Given the description of an element on the screen output the (x, y) to click on. 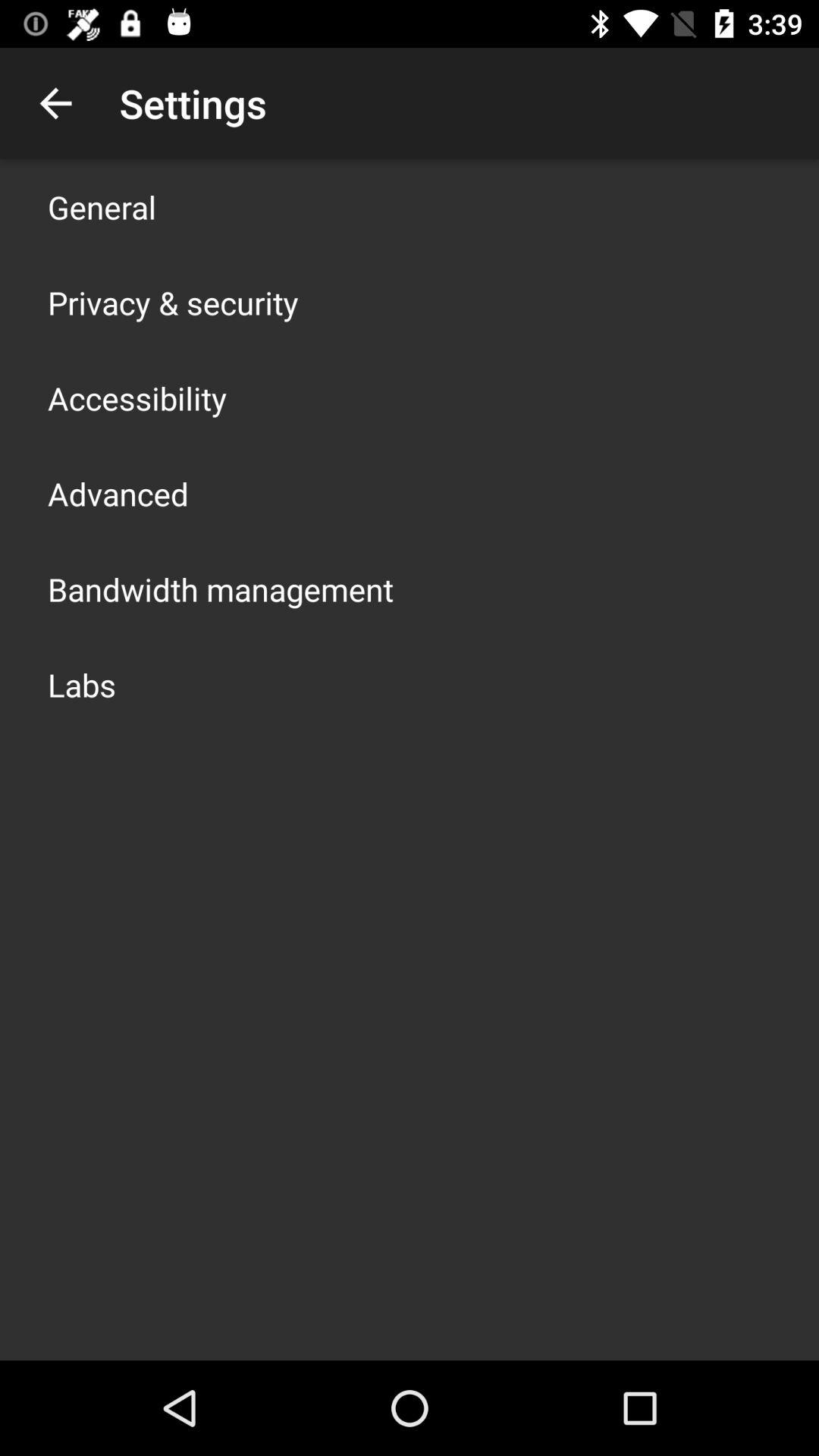
swipe to the labs (81, 684)
